Given the description of an element on the screen output the (x, y) to click on. 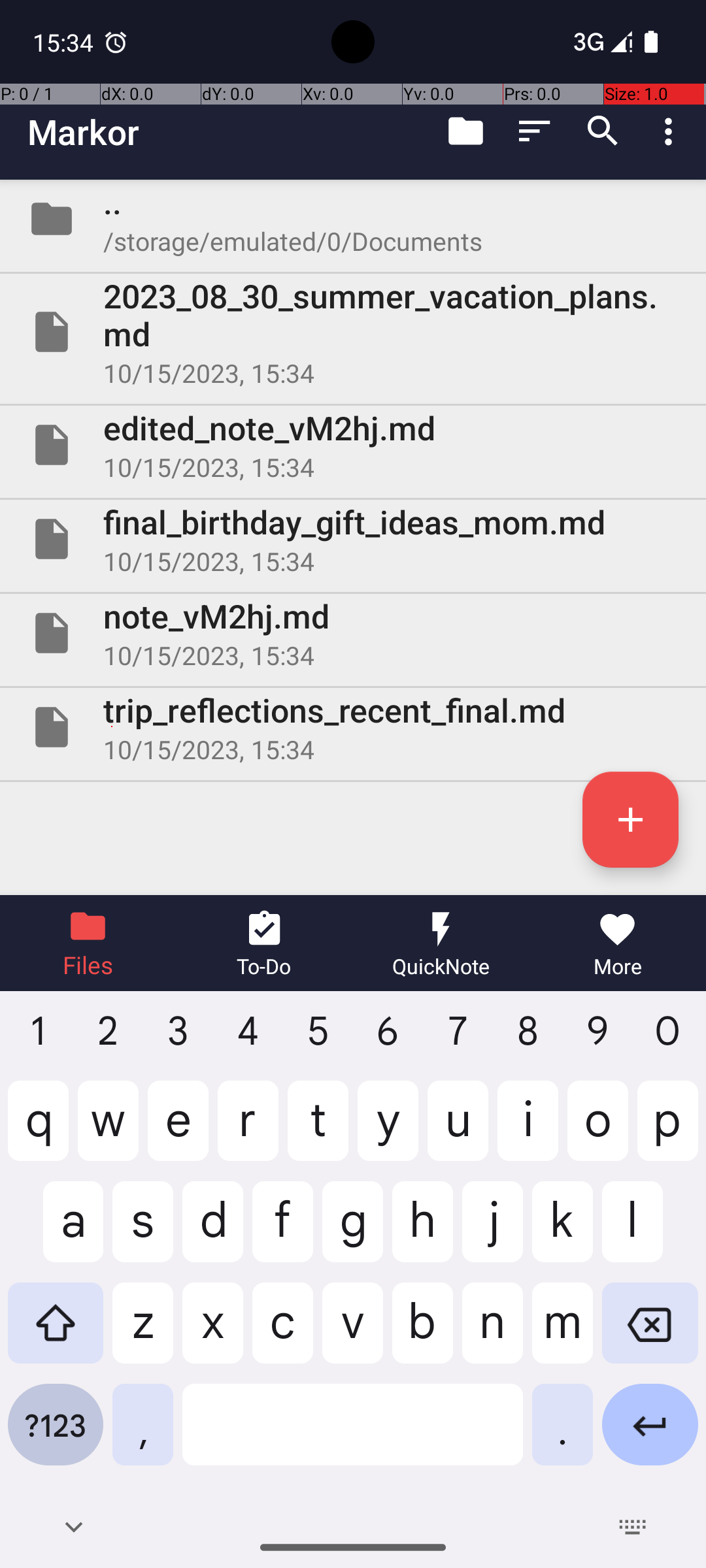
File 2023_08_30_summer_vacation_plans.md  Element type: android.widget.LinearLayout (353, 331)
File edited_note_vM2hj.md  Element type: android.widget.LinearLayout (353, 444)
File final_birthday_gift_ideas_mom.md  Element type: android.widget.LinearLayout (353, 538)
File note_vM2hj.md  Element type: android.widget.LinearLayout (353, 632)
File trip_reflections_recent_final.md  Element type: android.widget.LinearLayout (353, 726)
